Given the description of an element on the screen output the (x, y) to click on. 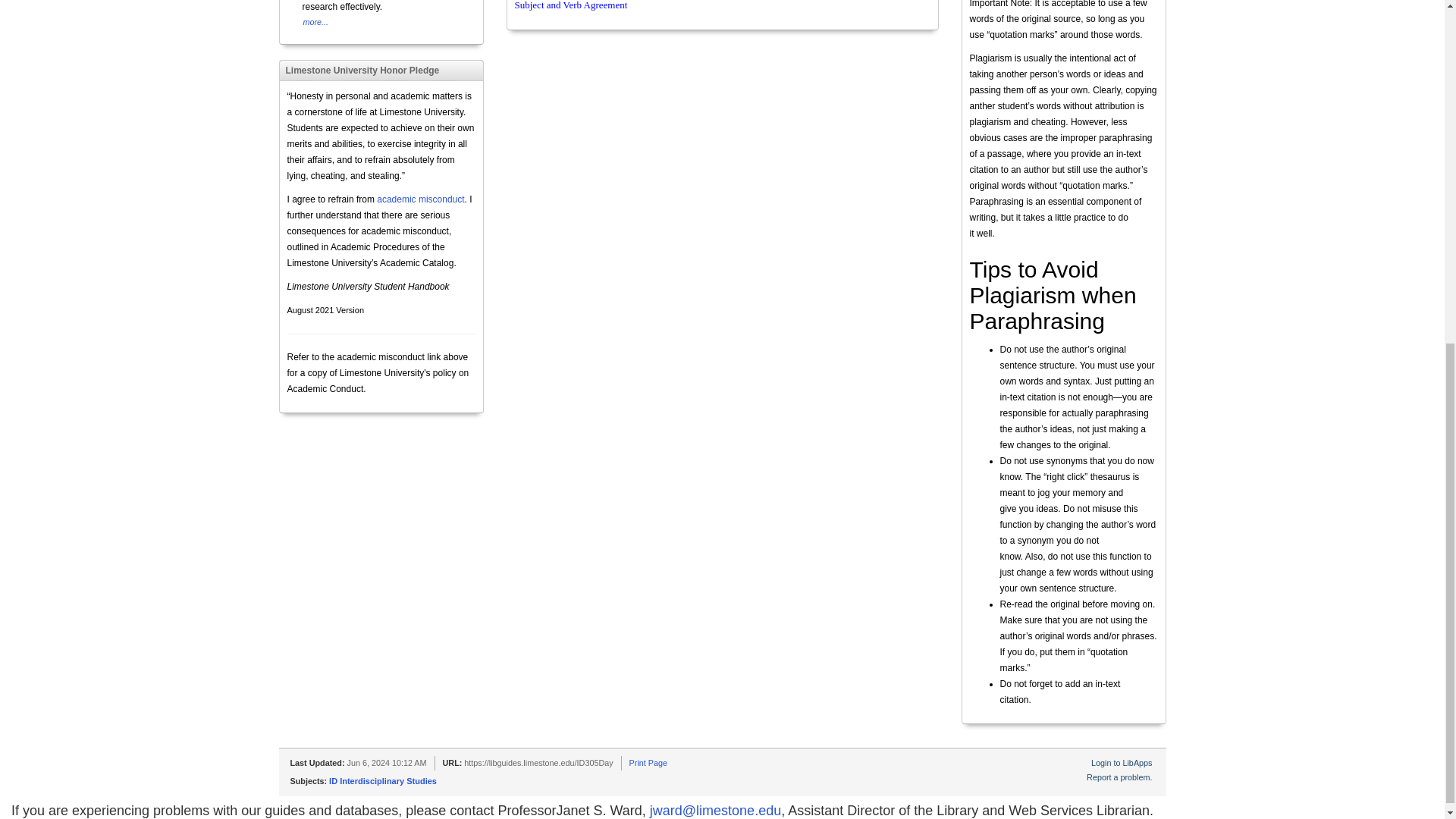
academic misconduct (420, 199)
more... (315, 21)
Subject and Verb Agreement (570, 5)
